Given the description of an element on the screen output the (x, y) to click on. 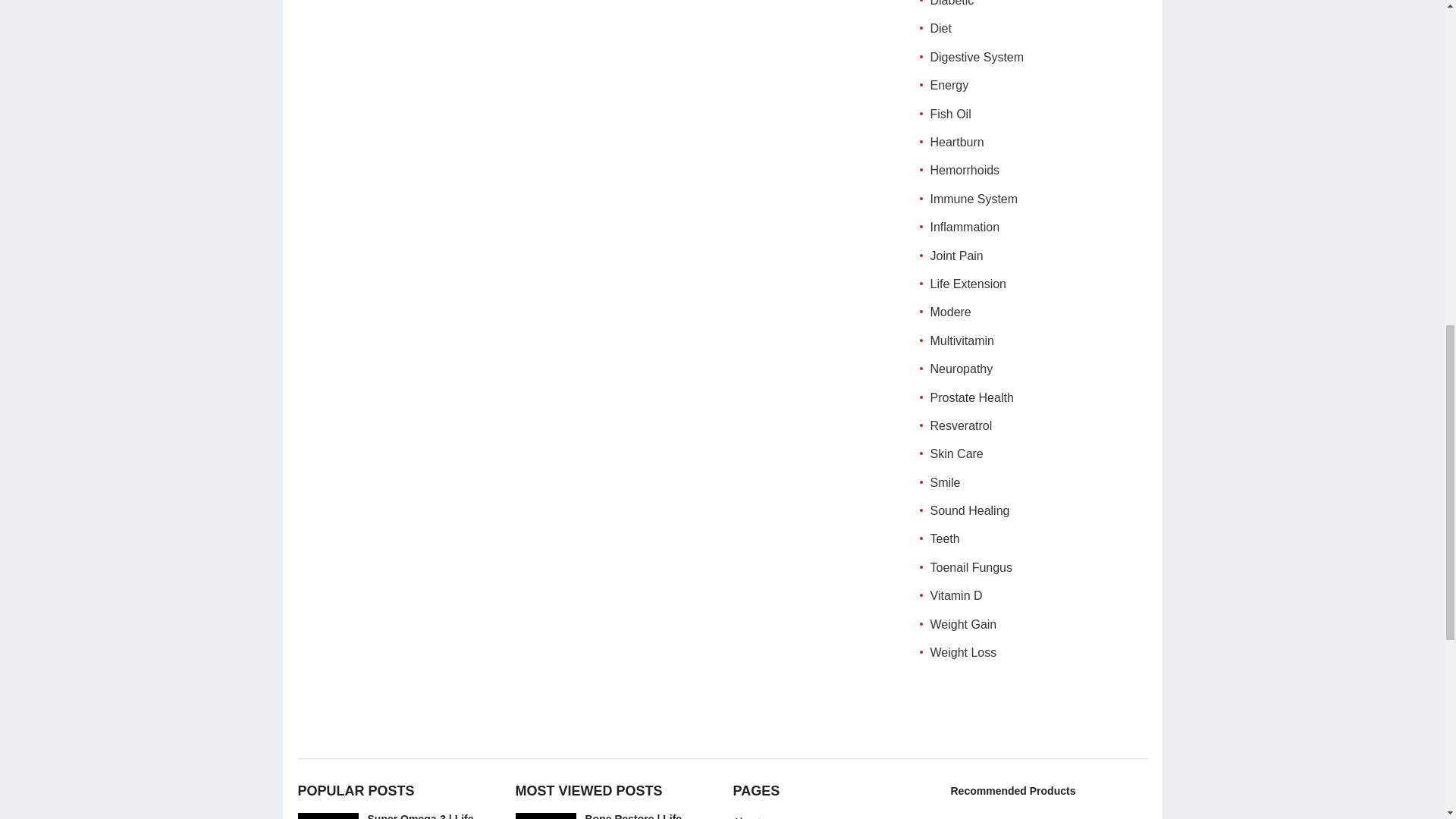
Diet (940, 28)
Heartburn (957, 141)
Immune System (973, 198)
Fish Oil (950, 113)
Hemorrhoids (964, 169)
Energy (949, 84)
Diabetic (952, 3)
Digestive System (976, 56)
